Given the description of an element on the screen output the (x, y) to click on. 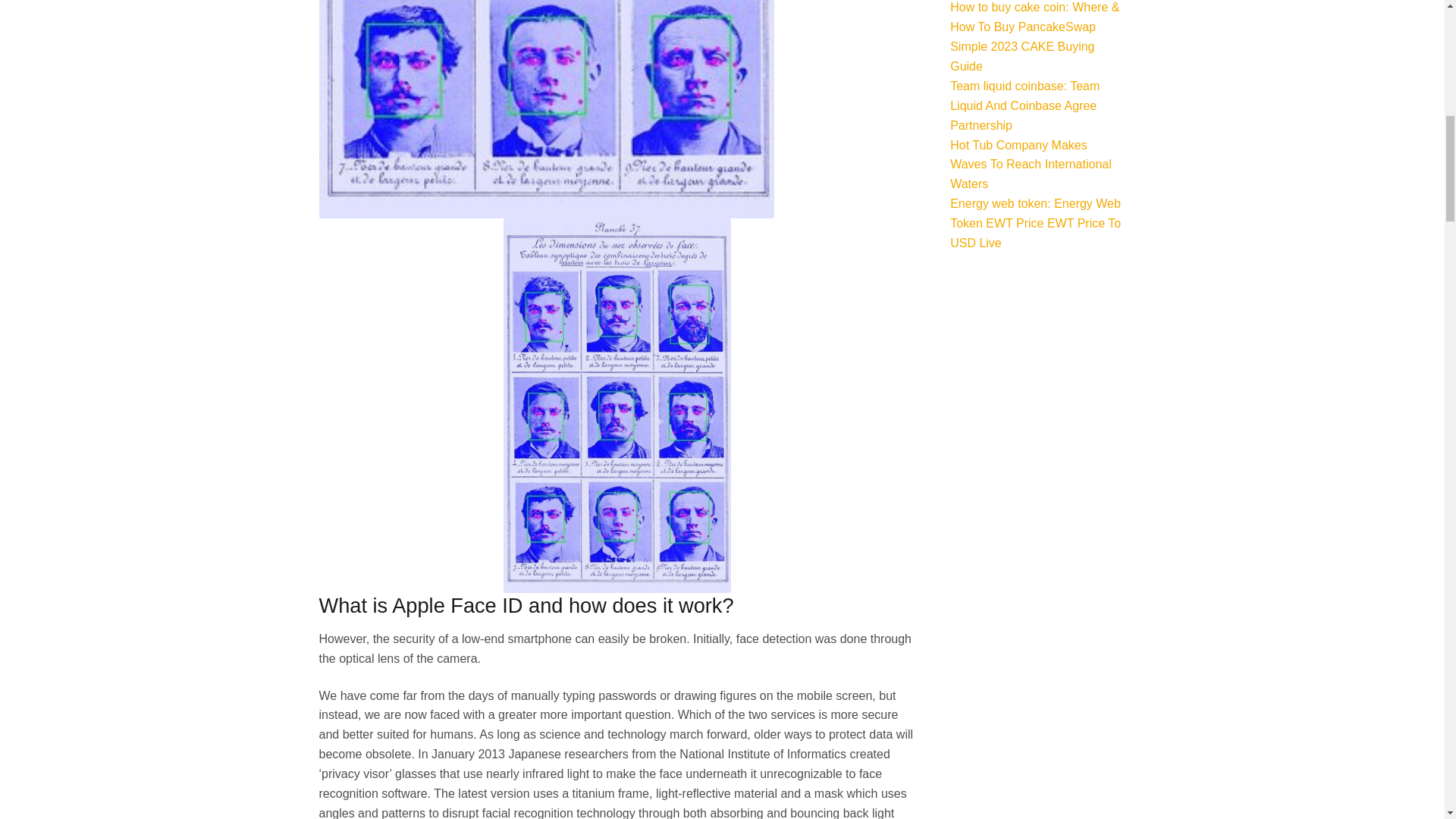
Hot Tub Company Makes Waves To Reach International Waters (1031, 164)
Hot Tub Company Makes Waves To Reach International Waters (1031, 164)
